Given the description of an element on the screen output the (x, y) to click on. 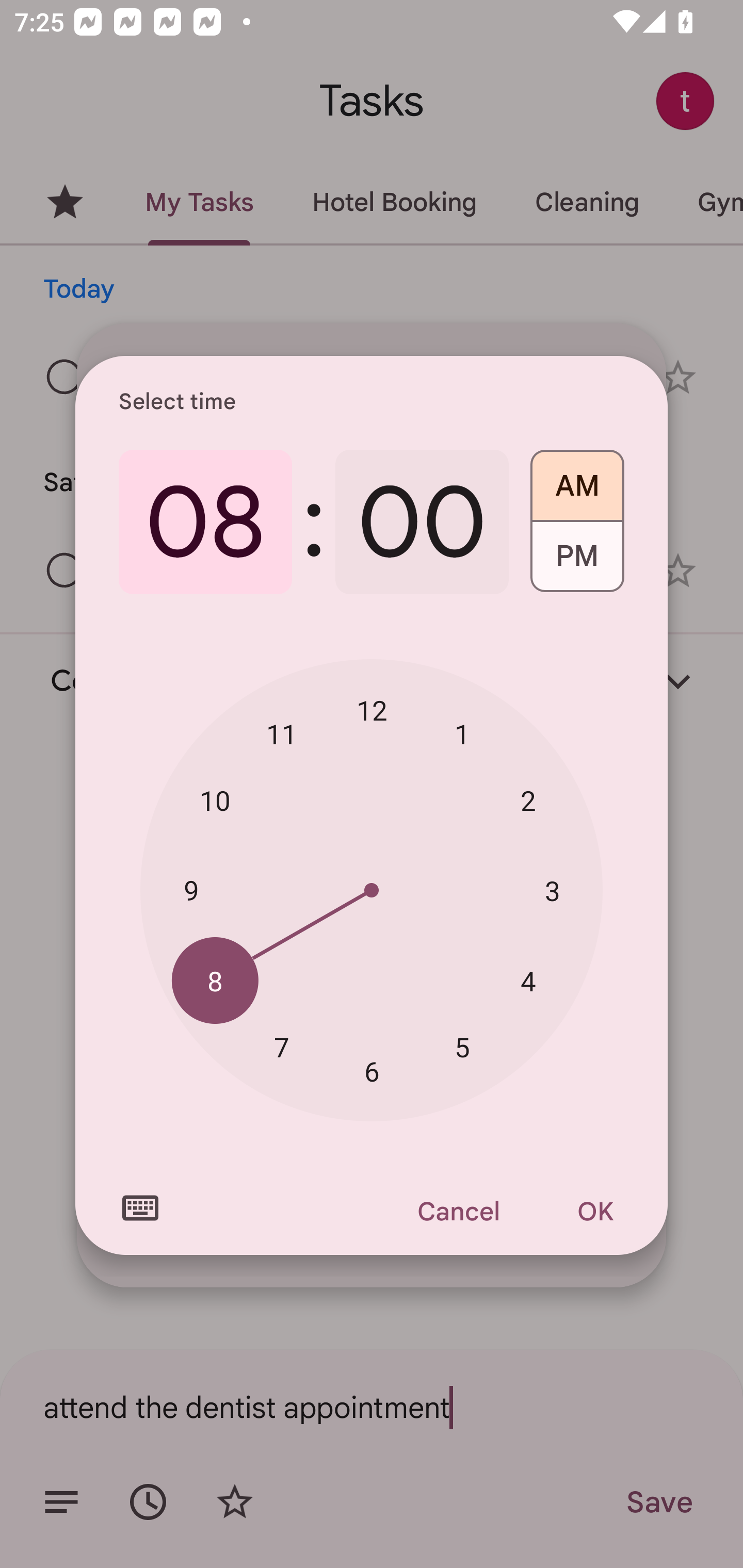
AM (577, 478)
08 8 o'clock (204, 522)
00 0 minutes (421, 522)
PM (577, 563)
12 12 o'clock (371, 710)
11 11 o'clock (281, 733)
1 1 o'clock (462, 733)
10 10 o'clock (214, 800)
2 2 o'clock (528, 800)
9 9 o'clock (190, 889)
3 3 o'clock (551, 890)
8 8 o'clock (214, 980)
4 4 o'clock (528, 980)
7 7 o'clock (281, 1046)
5 5 o'clock (462, 1046)
6 6 o'clock (371, 1071)
Switch to text input mode for the time input. (140, 1208)
Cancel (458, 1211)
OK (595, 1211)
